Given the description of an element on the screen output the (x, y) to click on. 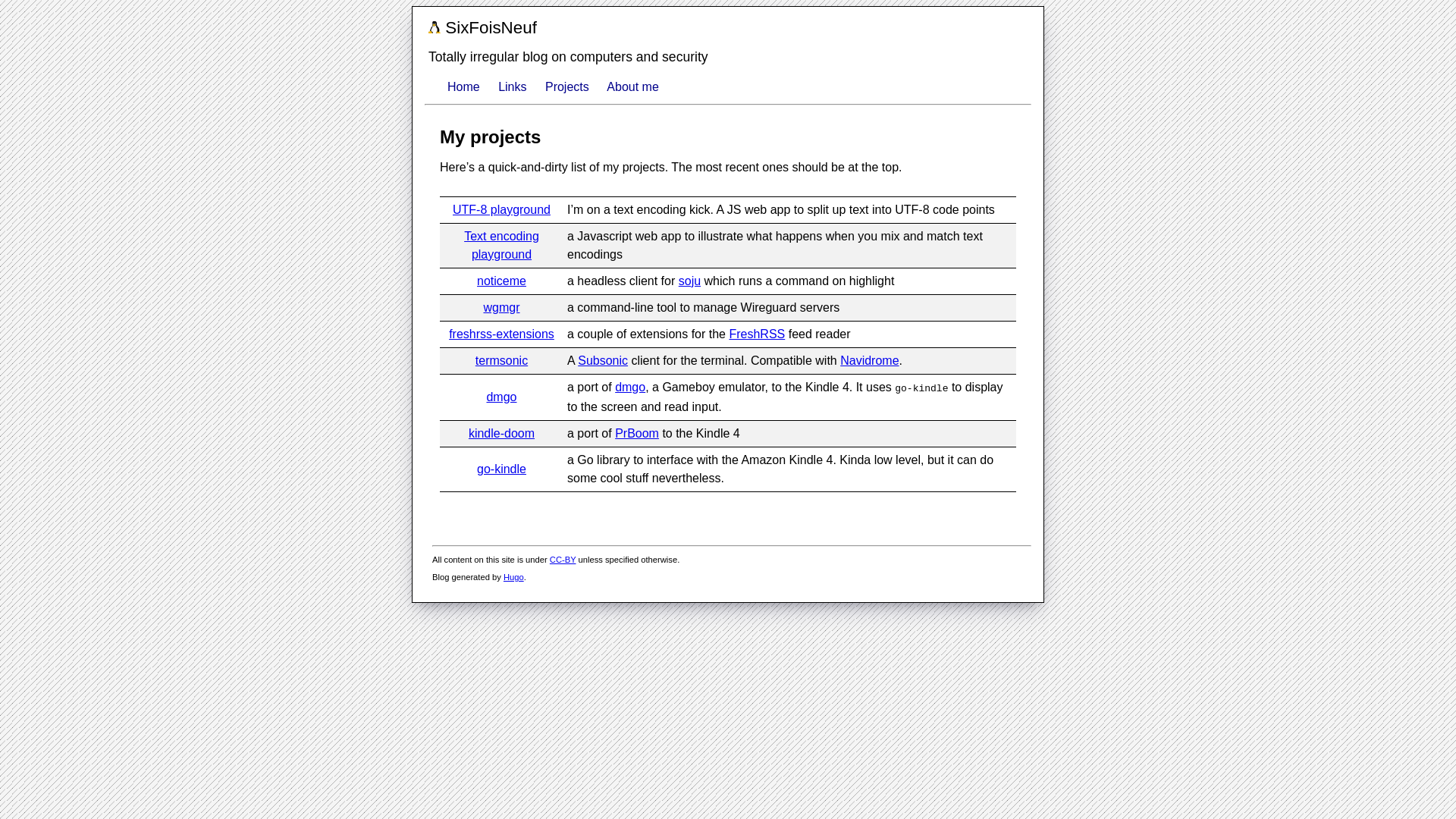
FreshRSS (756, 333)
CC-BY (563, 559)
Links (511, 86)
UTF-8 playground (501, 209)
Navidrome (869, 359)
Projects (566, 86)
Hugo (513, 576)
Subsonic (602, 359)
Home (463, 86)
PrBoom (636, 432)
